Given the description of an element on the screen output the (x, y) to click on. 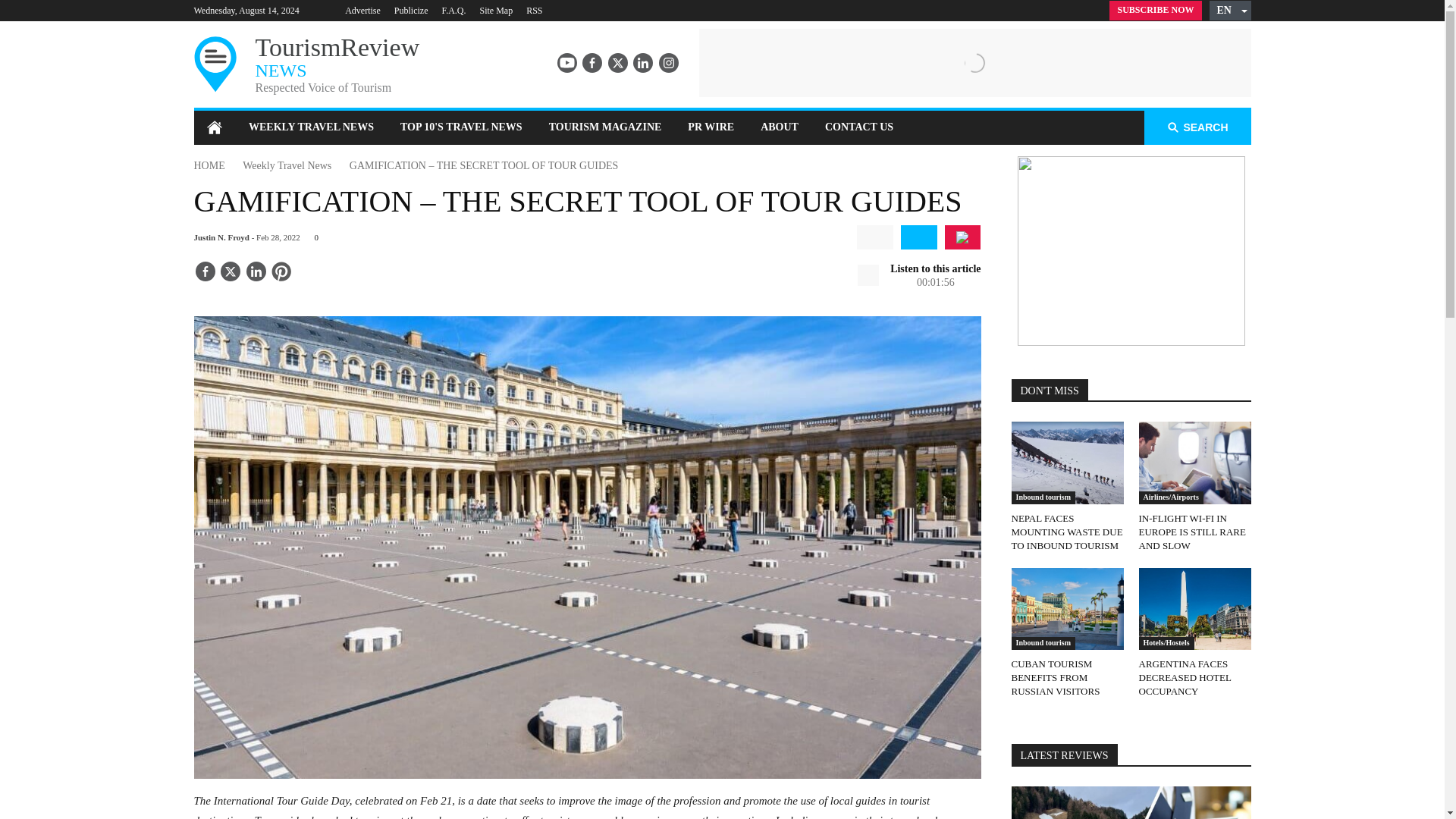
Publicize (411, 9)
PR WIRE (711, 127)
SUBSCRIBE NOW (1155, 10)
ABOUT (780, 127)
HOME (209, 165)
Weekly Travel News (287, 165)
Article in pdf (961, 237)
TOURISM MAGAZINE (605, 127)
F.A.Q. (453, 9)
CONTACT US (857, 127)
